Given the description of an element on the screen output the (x, y) to click on. 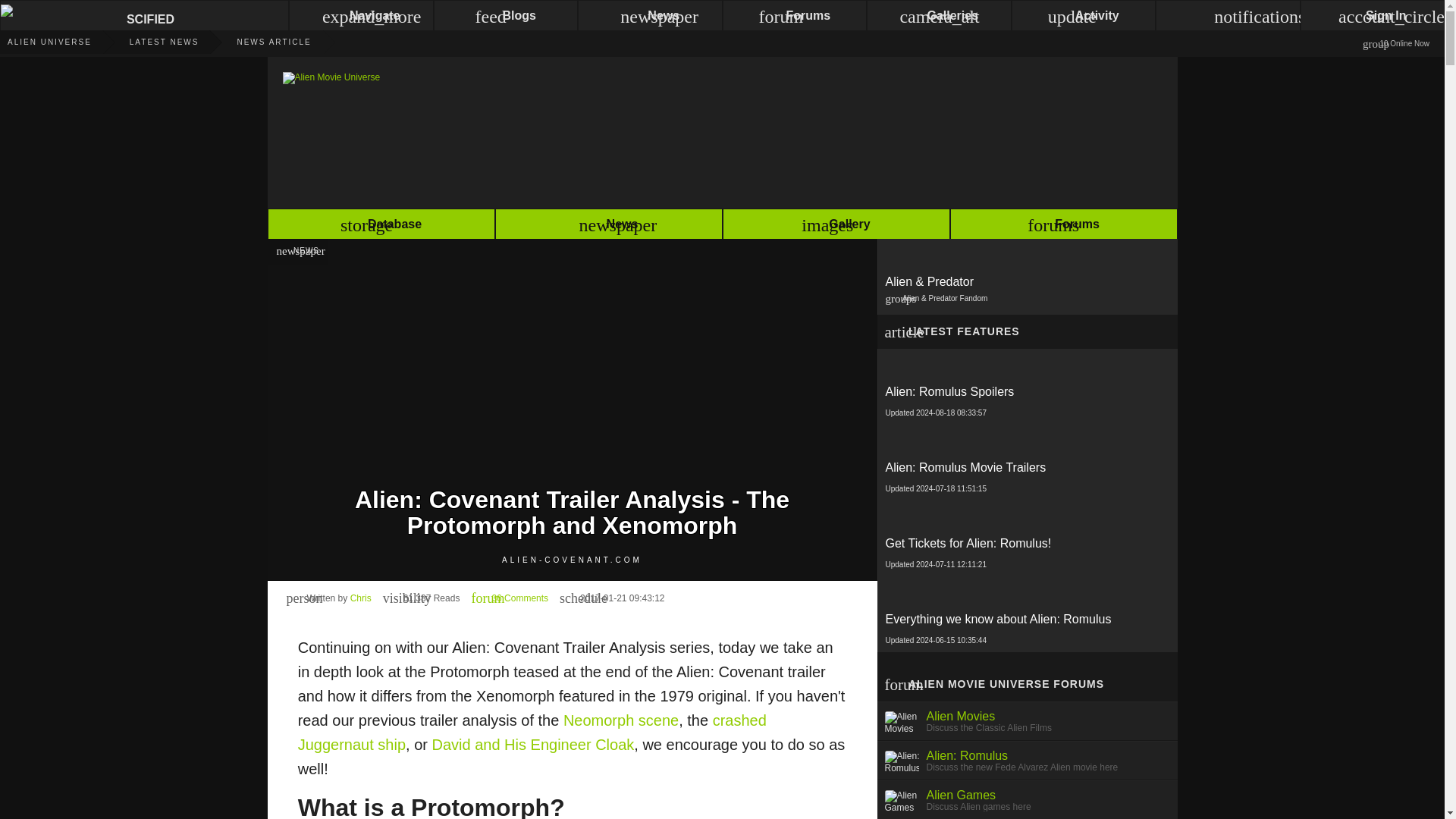
Latest News and Updates (145, 42)
crashed Juggernaut ship (532, 731)
Neomorph scene (620, 719)
Open the Alien Movie Universe Forums (1062, 226)
Chris (360, 597)
Gallery (835, 226)
Add A Comment (1026, 386)
News (509, 597)
